Given the description of an element on the screen output the (x, y) to click on. 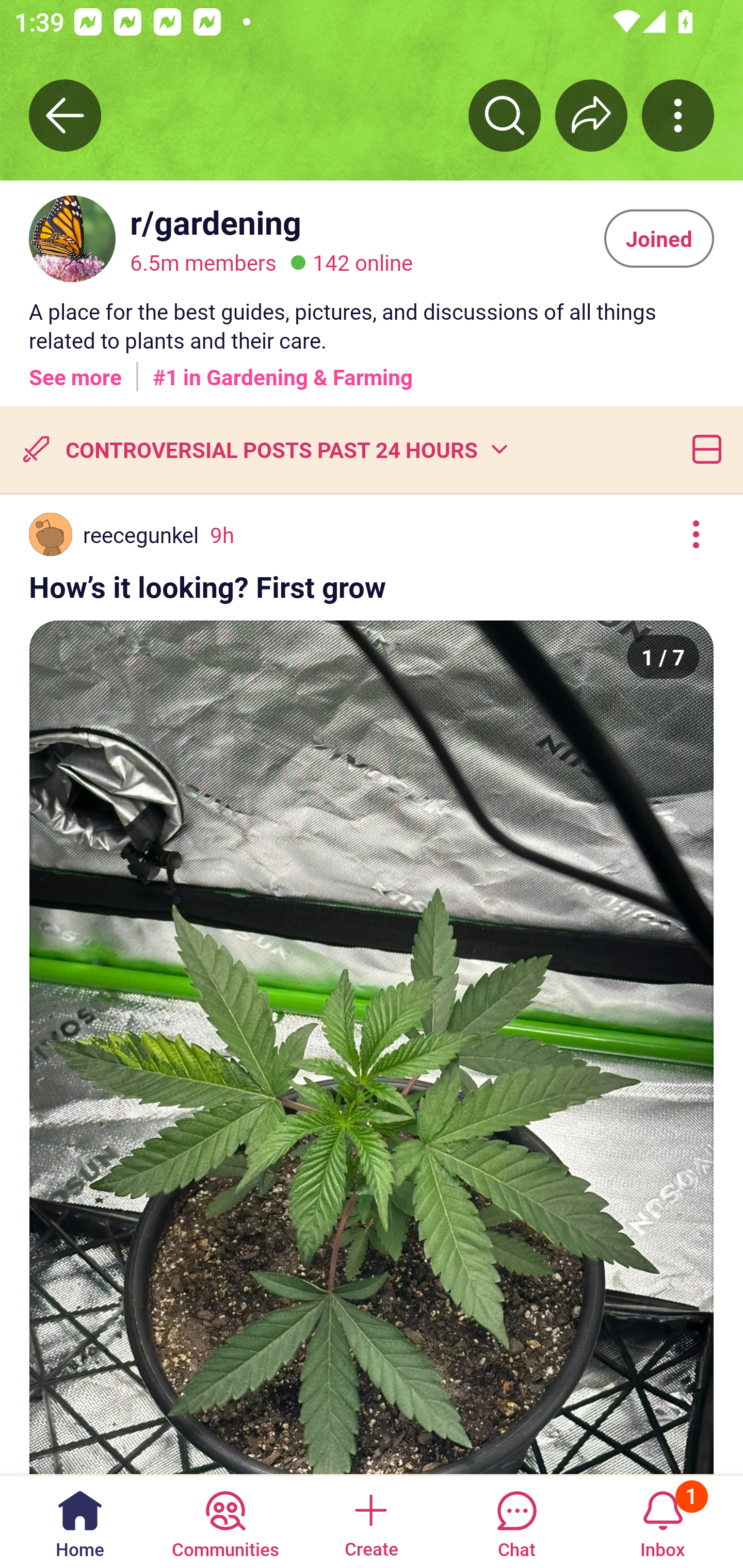
Back (64, 115)
Search r/﻿gardening (504, 115)
Share r/﻿gardening (591, 115)
More community actions (677, 115)
Card (703, 449)
Home (80, 1520)
Communities (225, 1520)
Create a post Create (370, 1520)
Chat (516, 1520)
Inbox, has 1 notification 1 Inbox (662, 1520)
